Given the description of an element on the screen output the (x, y) to click on. 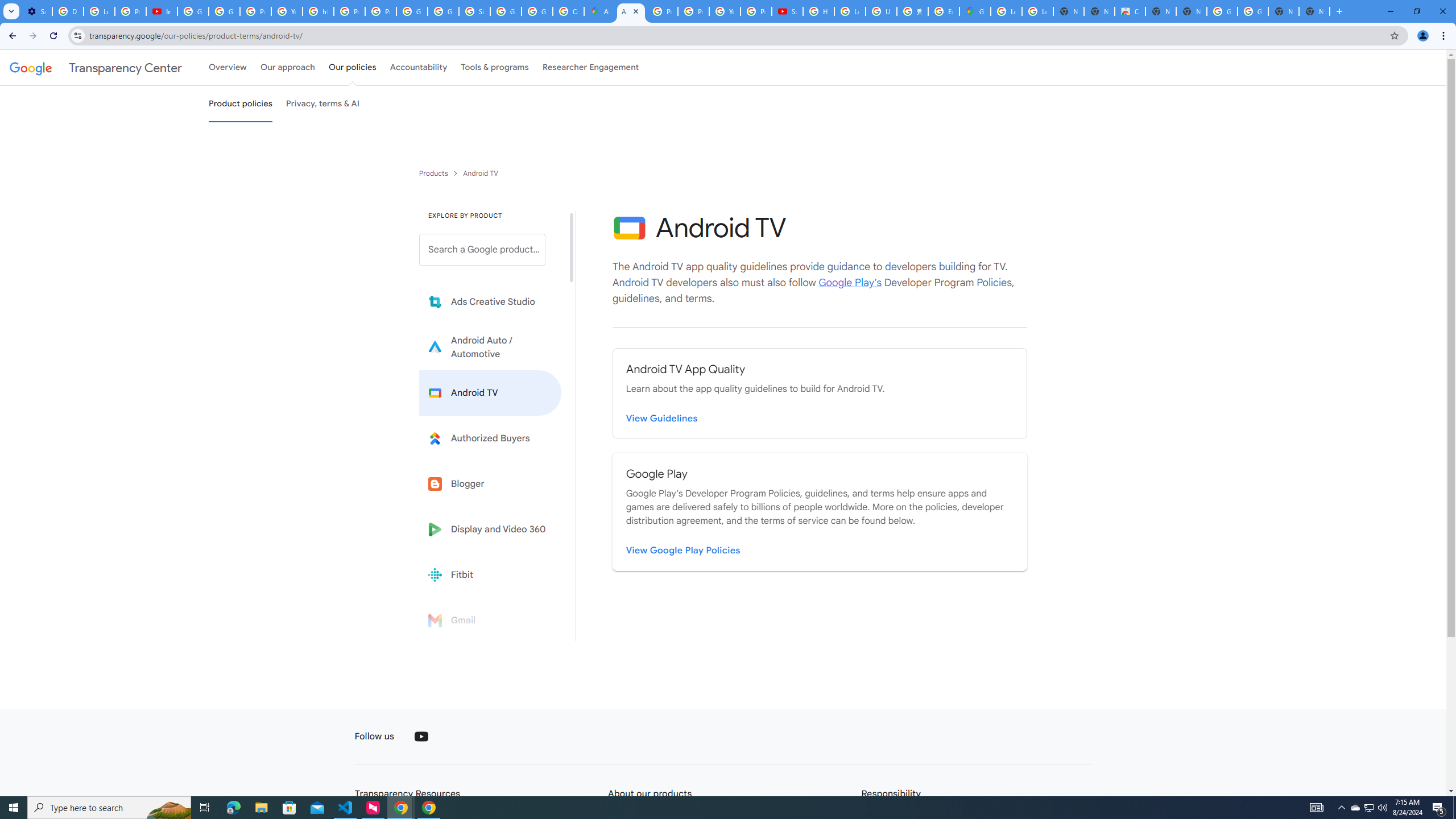
Learn more about Android Auto (490, 347)
Our approach (287, 67)
Android TV Policies and Guidelines - Transparency Center (631, 11)
Settings - Performance (36, 11)
Gmail (490, 619)
Privacy Help Center - Policies Help (693, 11)
Blogger (490, 483)
Google Images (1252, 11)
YouTube (724, 11)
